Given the description of an element on the screen output the (x, y) to click on. 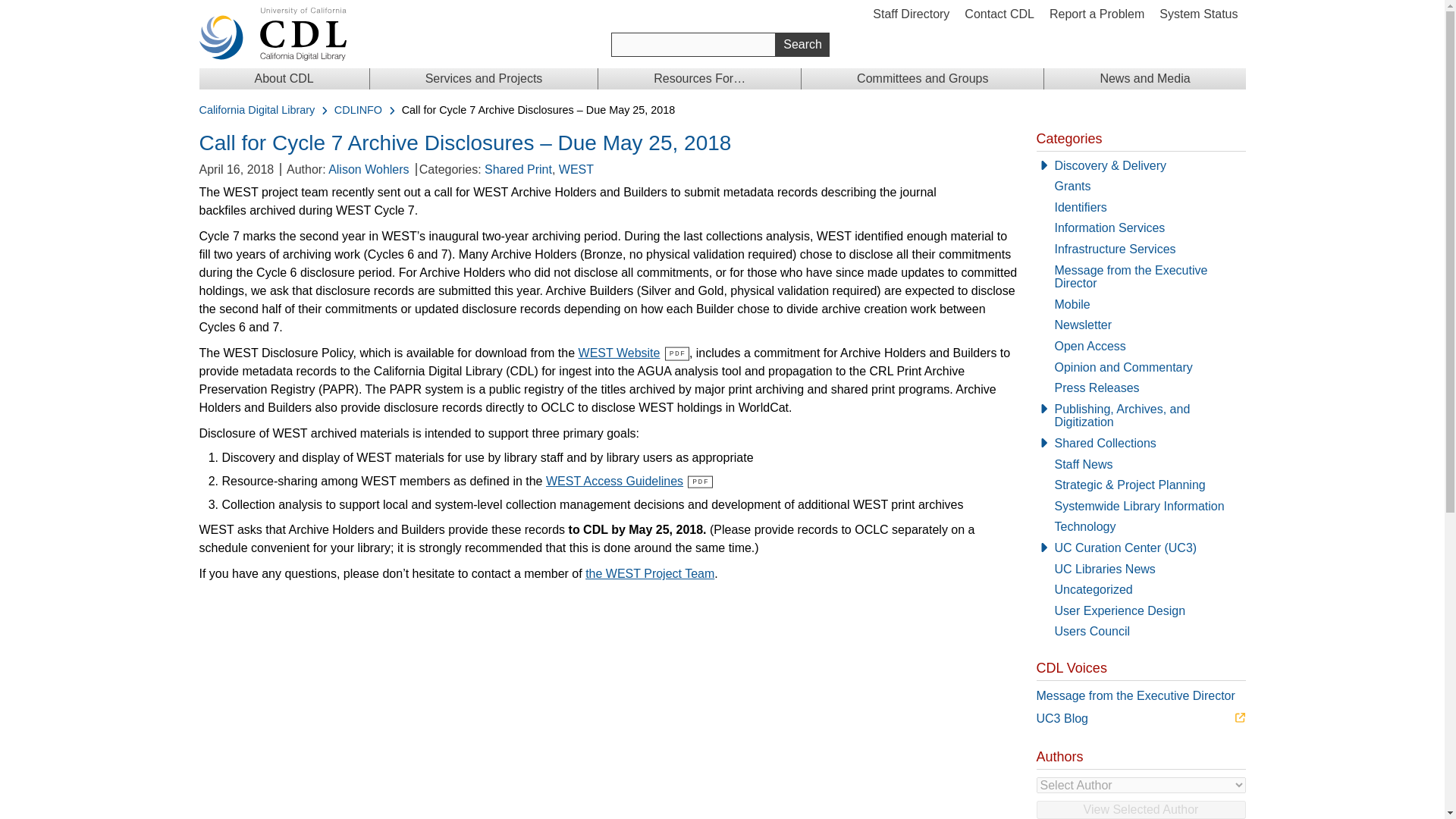
About CDL (283, 78)
Search (802, 44)
Services and Projects (483, 78)
